Given the description of an element on the screen output the (x, y) to click on. 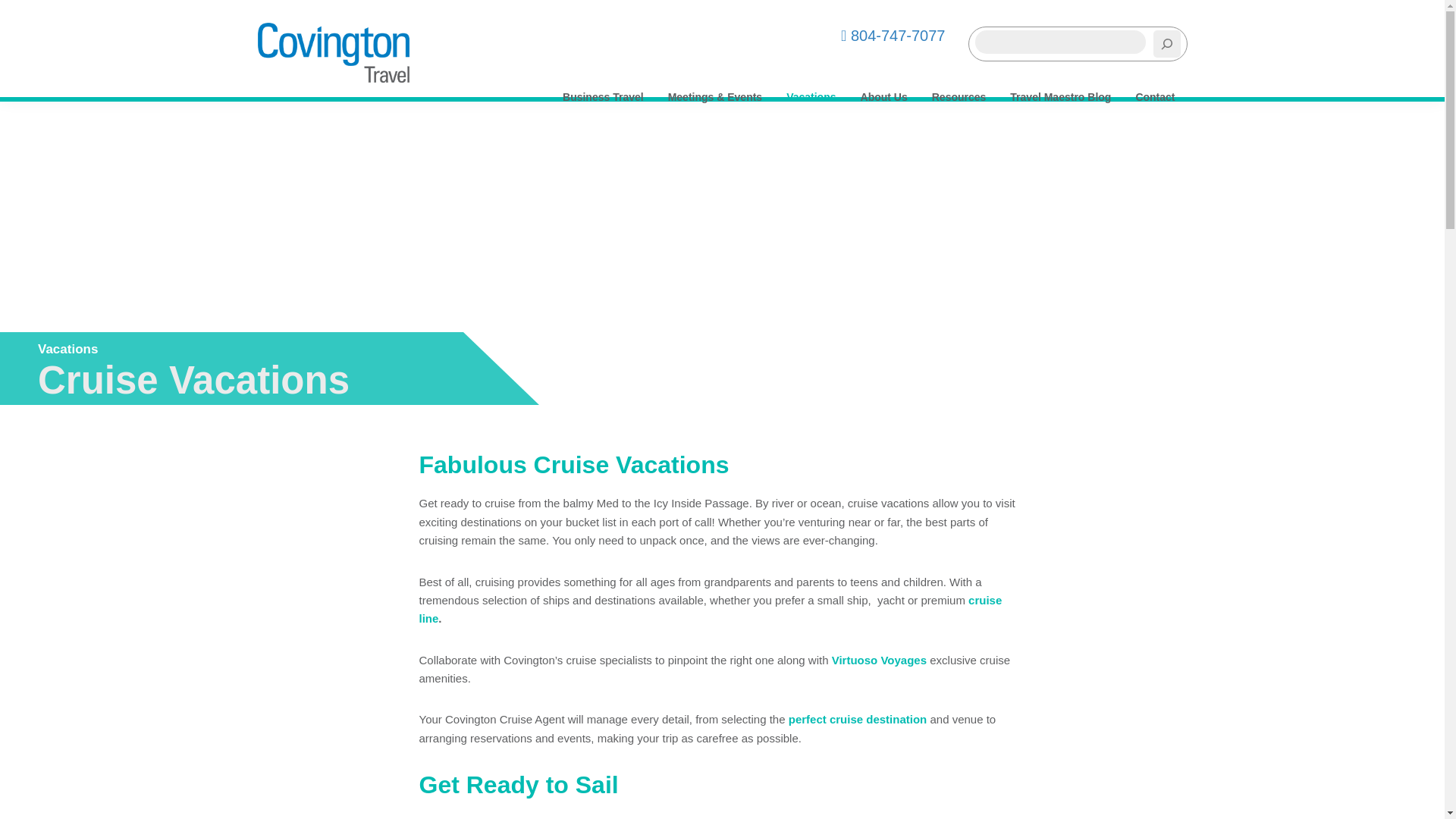
804-747-7077 (892, 35)
Business Travel (602, 93)
Vacations (810, 93)
